Given the description of an element on the screen output the (x, y) to click on. 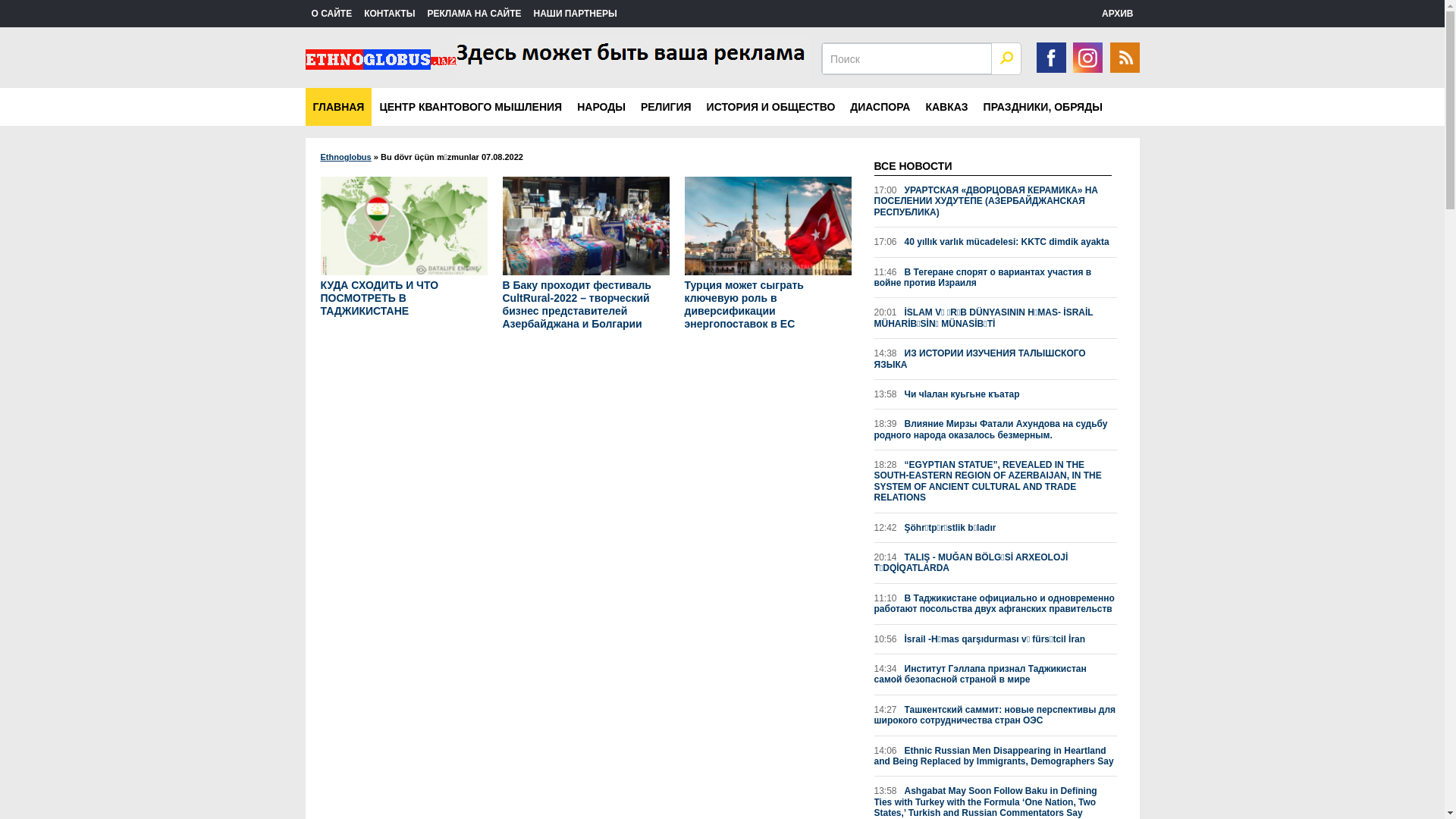
OK Element type: text (1005, 58)
Ethnoglobus Element type: text (345, 156)
